Given the description of an element on the screen output the (x, y) to click on. 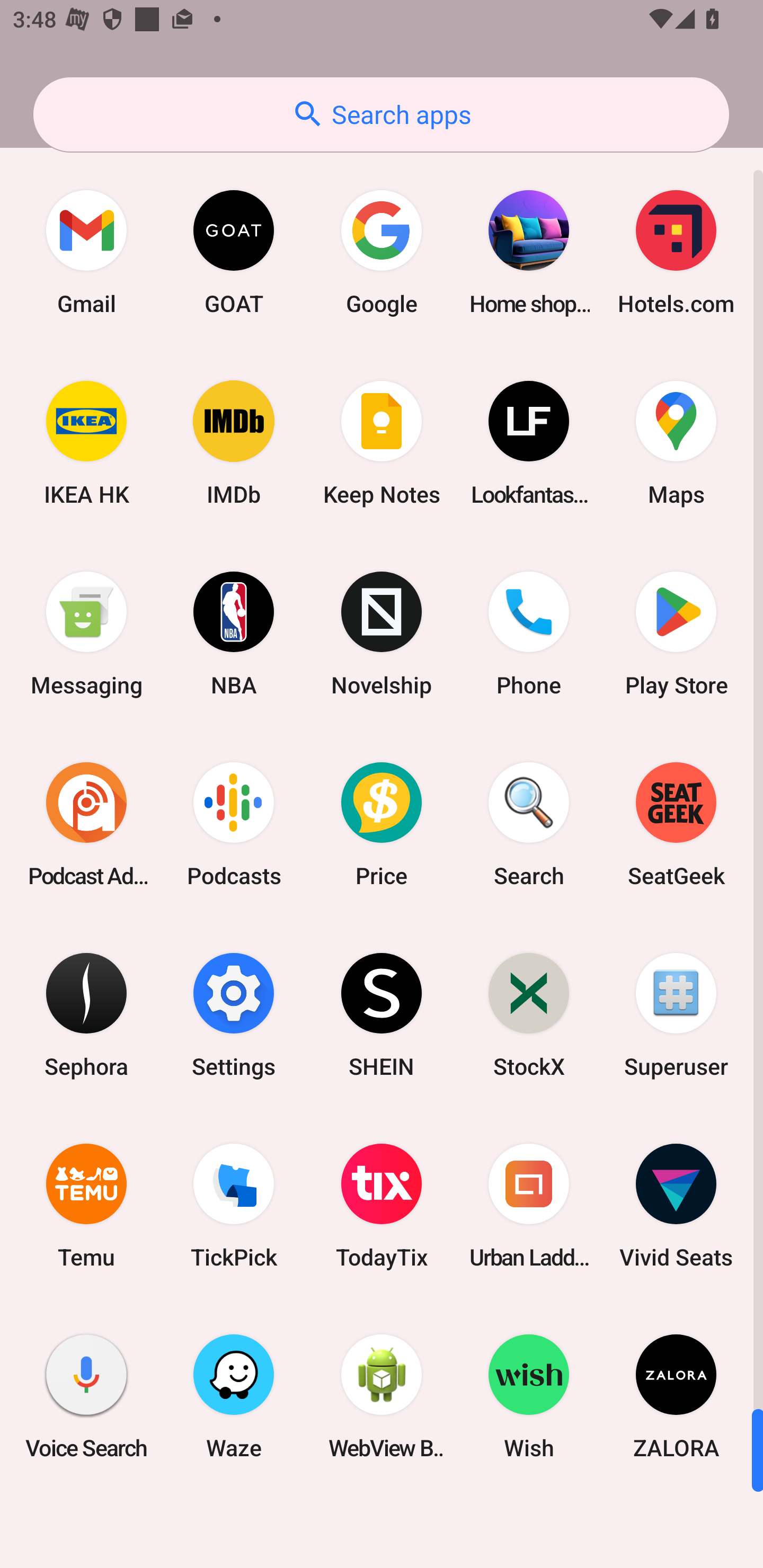
  Search apps (381, 114)
Gmail (86, 252)
GOAT (233, 252)
Google (381, 252)
Home shopping (528, 252)
Hotels.com (676, 252)
IKEA HK (86, 442)
IMDb (233, 442)
Keep Notes (381, 442)
Lookfantastic (528, 442)
Maps (676, 442)
Messaging (86, 633)
NBA (233, 633)
Novelship (381, 633)
Phone (528, 633)
Play Store (676, 633)
Podcast Addict (86, 823)
Podcasts (233, 823)
Price (381, 823)
Search (528, 823)
SeatGeek (676, 823)
Sephora (86, 1014)
Settings (233, 1014)
SHEIN (381, 1014)
StockX (528, 1014)
Superuser (676, 1014)
Temu (86, 1205)
TickPick (233, 1205)
TodayTix (381, 1205)
Urban Ladder (528, 1205)
Vivid Seats (676, 1205)
Voice Search (86, 1396)
Waze (233, 1396)
WebView Browser Tester (381, 1396)
Wish (528, 1396)
ZALORA (676, 1396)
